Given the description of an element on the screen output the (x, y) to click on. 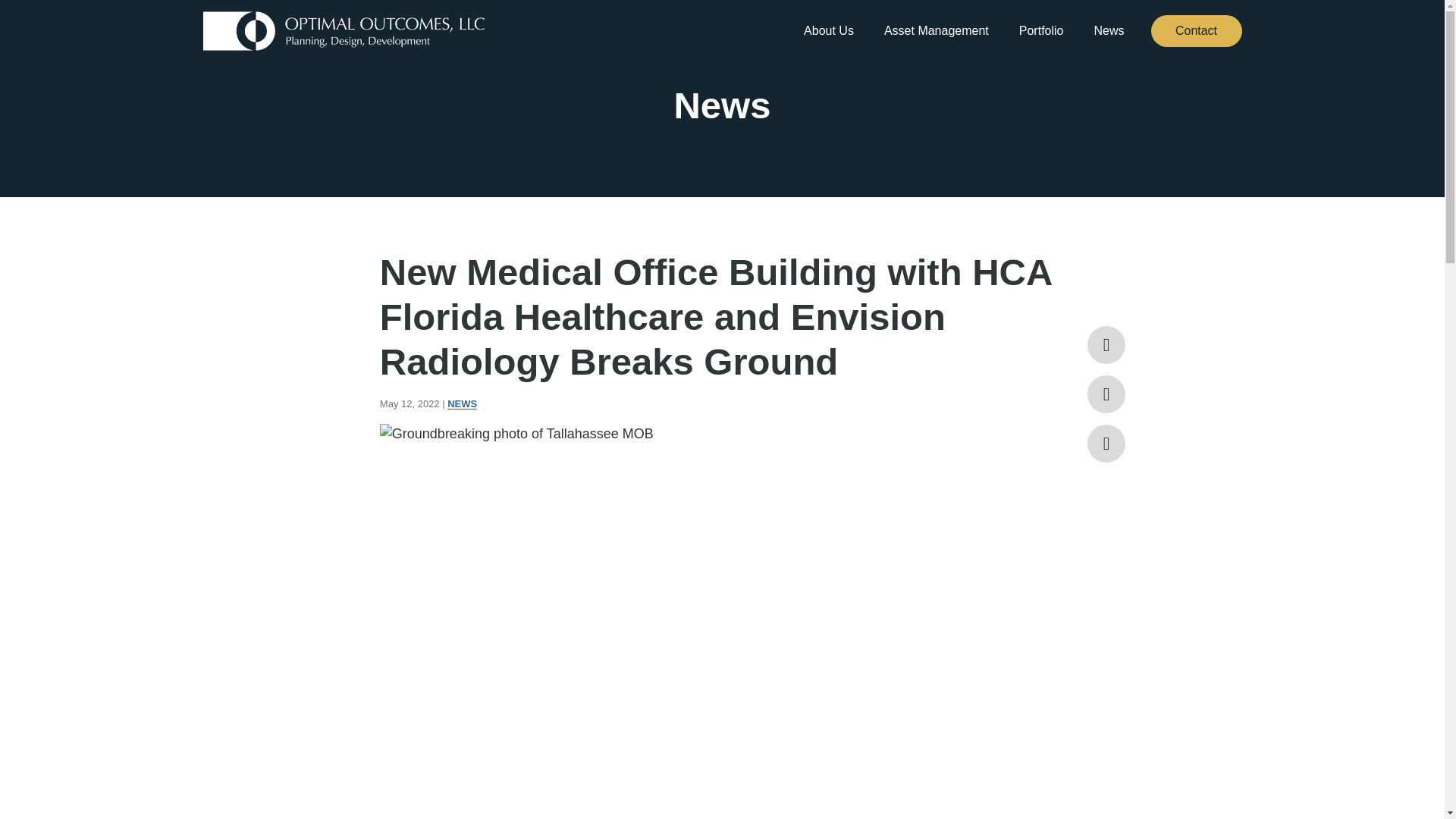
Contact (1196, 30)
Portfolio (1041, 30)
NEWS (461, 403)
Optimal Outcomes (343, 30)
News (1108, 30)
Asset Management (935, 30)
About Us (828, 30)
